Given the description of an element on the screen output the (x, y) to click on. 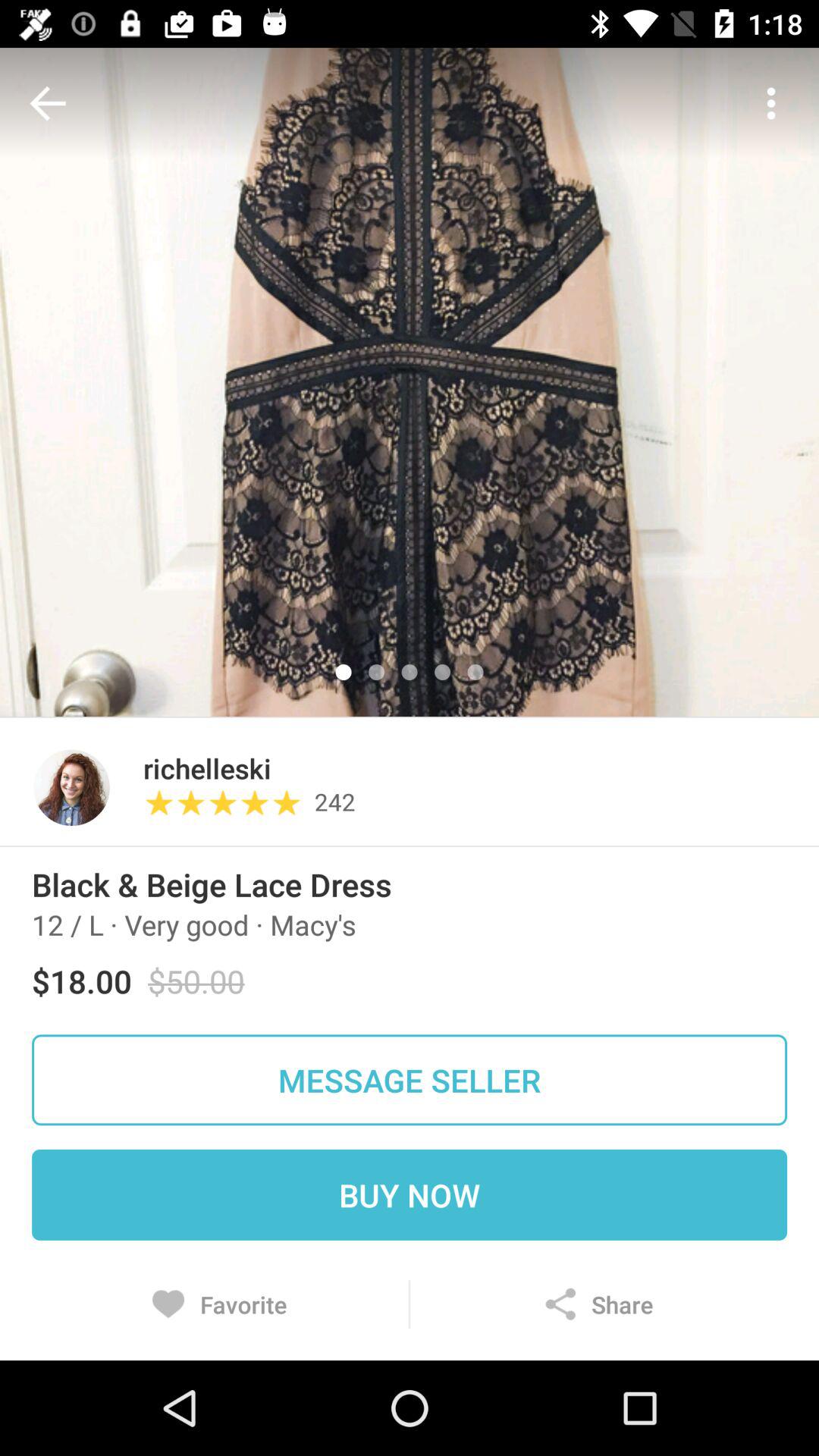
open the item to the left of the 242 icon (228, 803)
